Given the description of an element on the screen output the (x, y) to click on. 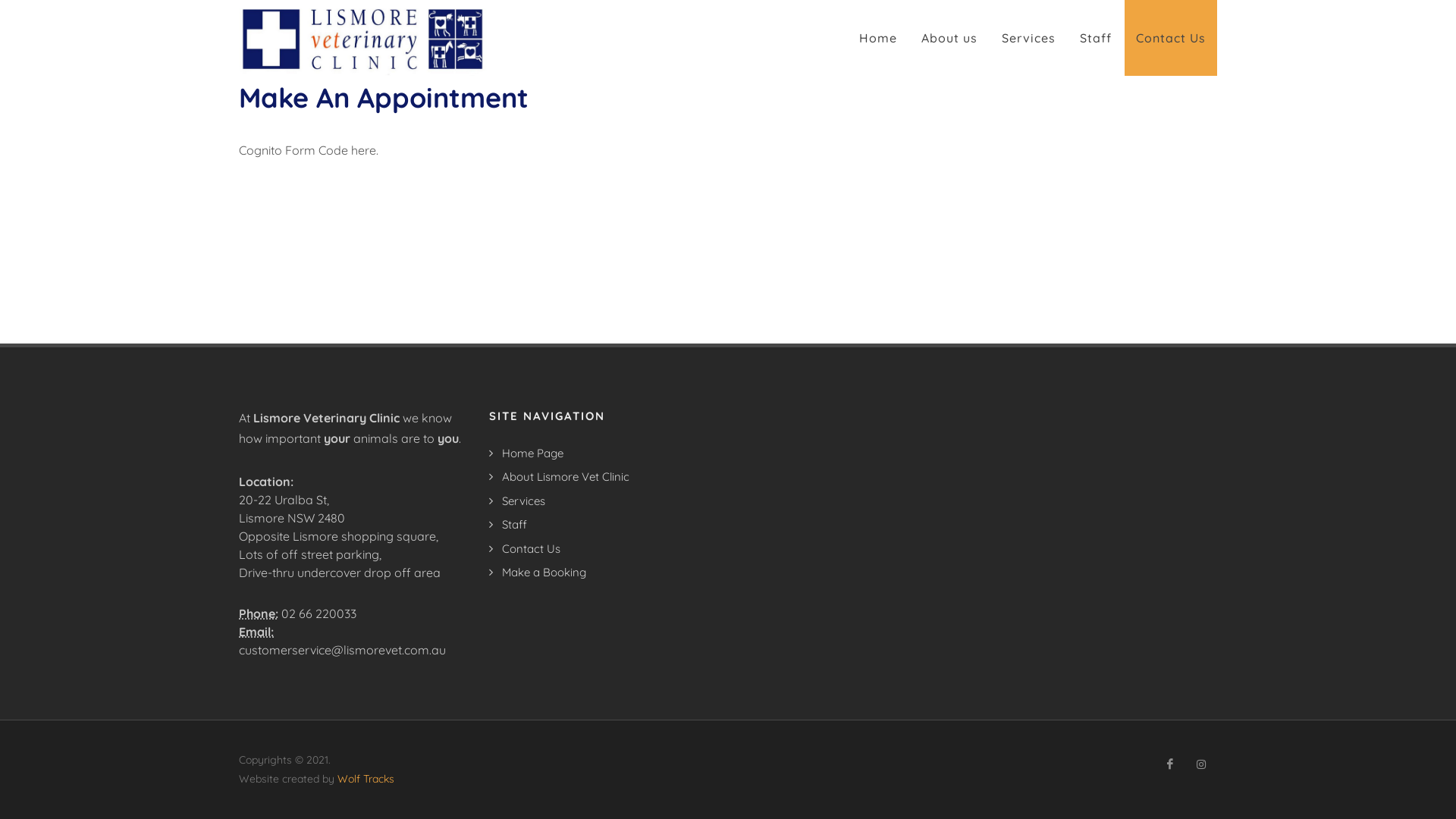
02 66 220033 Element type: text (318, 613)
Make a Booking Element type: text (540, 572)
Contact Us Element type: text (1170, 37)
Contact Us Element type: text (527, 549)
Services Element type: text (1028, 37)
Home Page Element type: text (528, 453)
Wolf Tracks Element type: text (365, 778)
customerservice@lismorevet.com.au Element type: text (341, 649)
Staff Element type: text (510, 524)
About us Element type: text (949, 37)
Services Element type: text (519, 501)
Home Element type: text (877, 37)
About Lismore Vet Clinic Element type: text (561, 477)
Staff Element type: text (1095, 37)
